Given the description of an element on the screen output the (x, y) to click on. 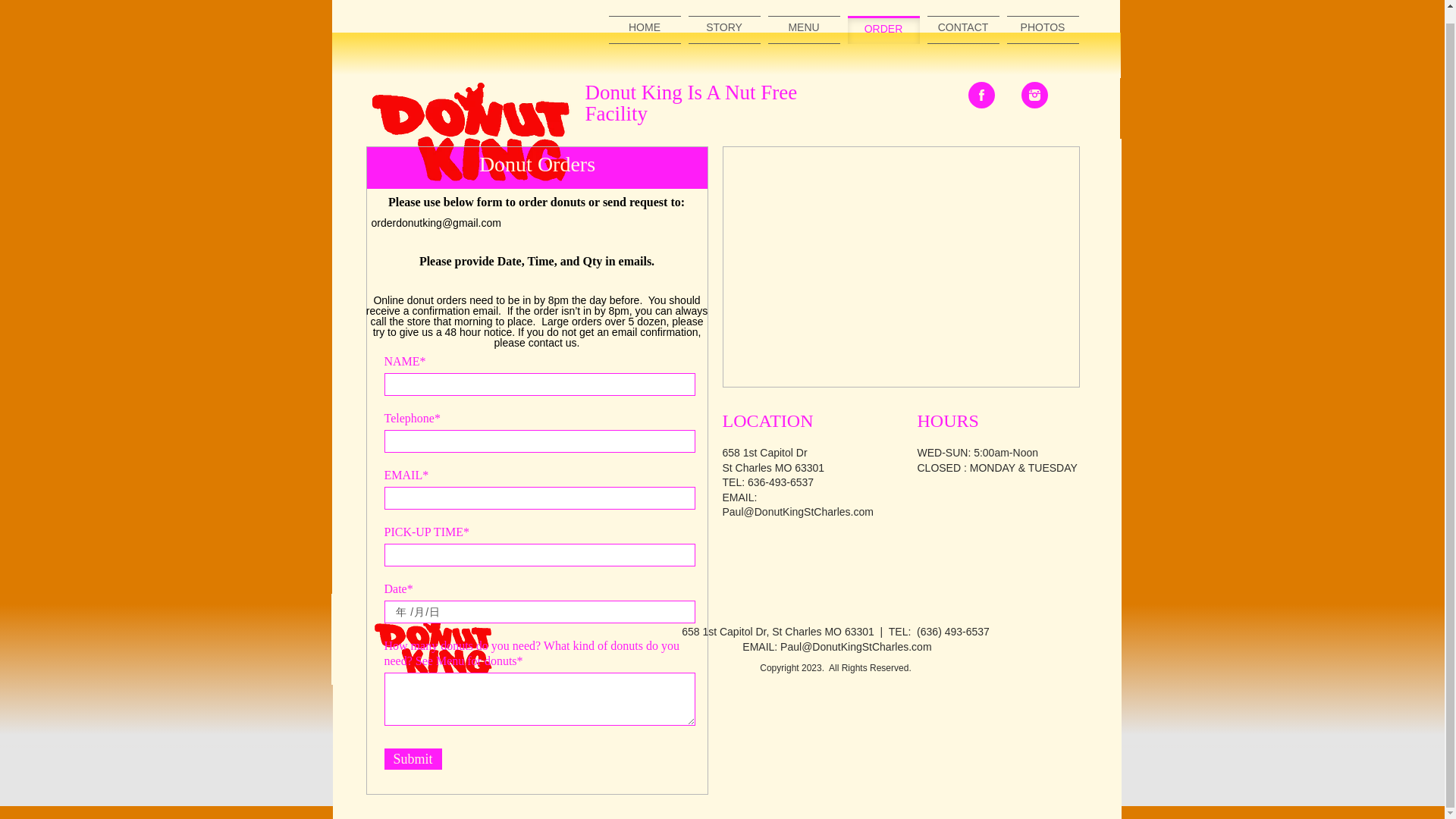
HOME (643, 29)
PHOTOS (1042, 29)
CONTACT (962, 29)
MENU (803, 29)
Submit (412, 758)
STORY (724, 29)
ORDER (883, 31)
